Given the description of an element on the screen output the (x, y) to click on. 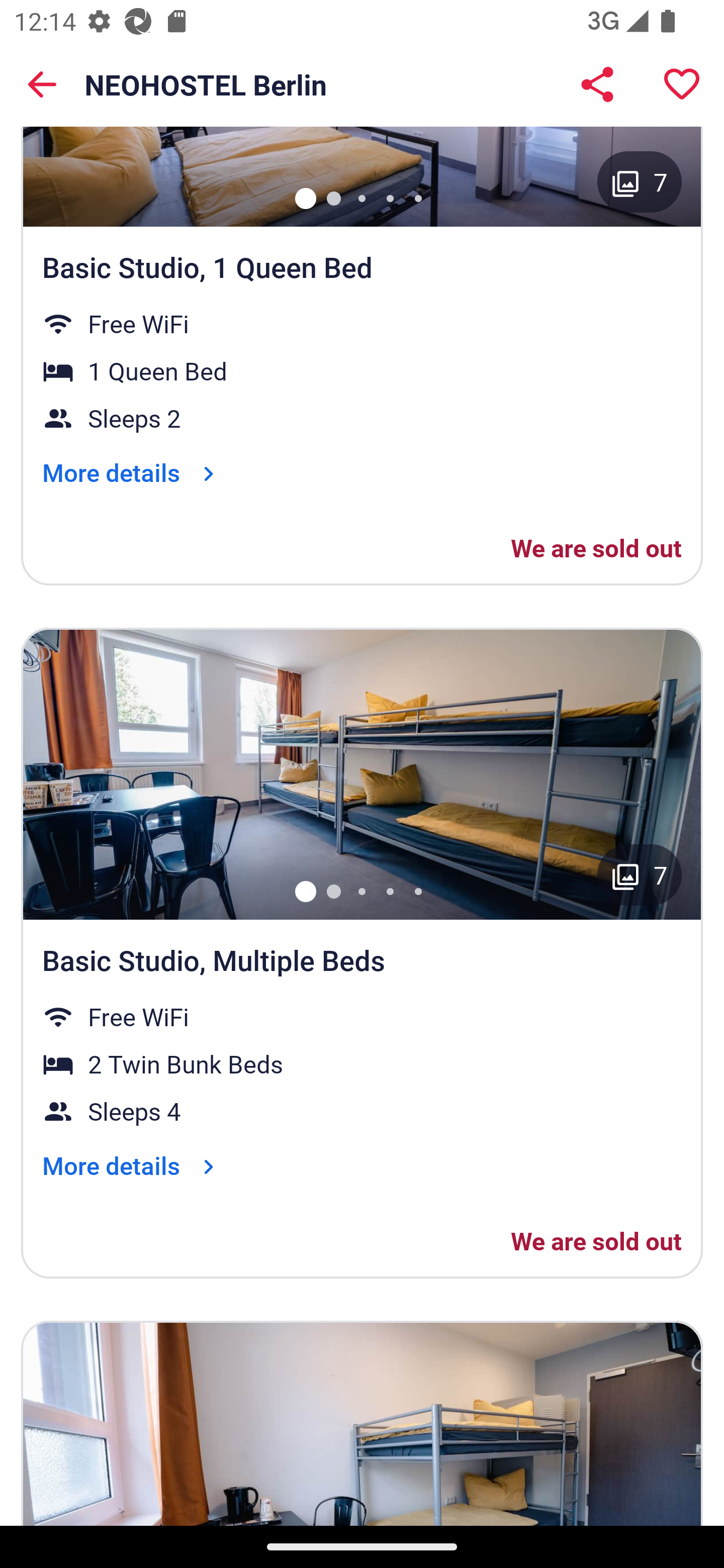
Back (42, 84)
Save property to a trip (681, 84)
Share NEOHOSTEL Berlin (597, 84)
Gallery button with 7 images (639, 181)
Gallery button with 7 images (639, 874)
Basic Studio | Free WiFi, bed sheets (361, 1422)
